Given the description of an element on the screen output the (x, y) to click on. 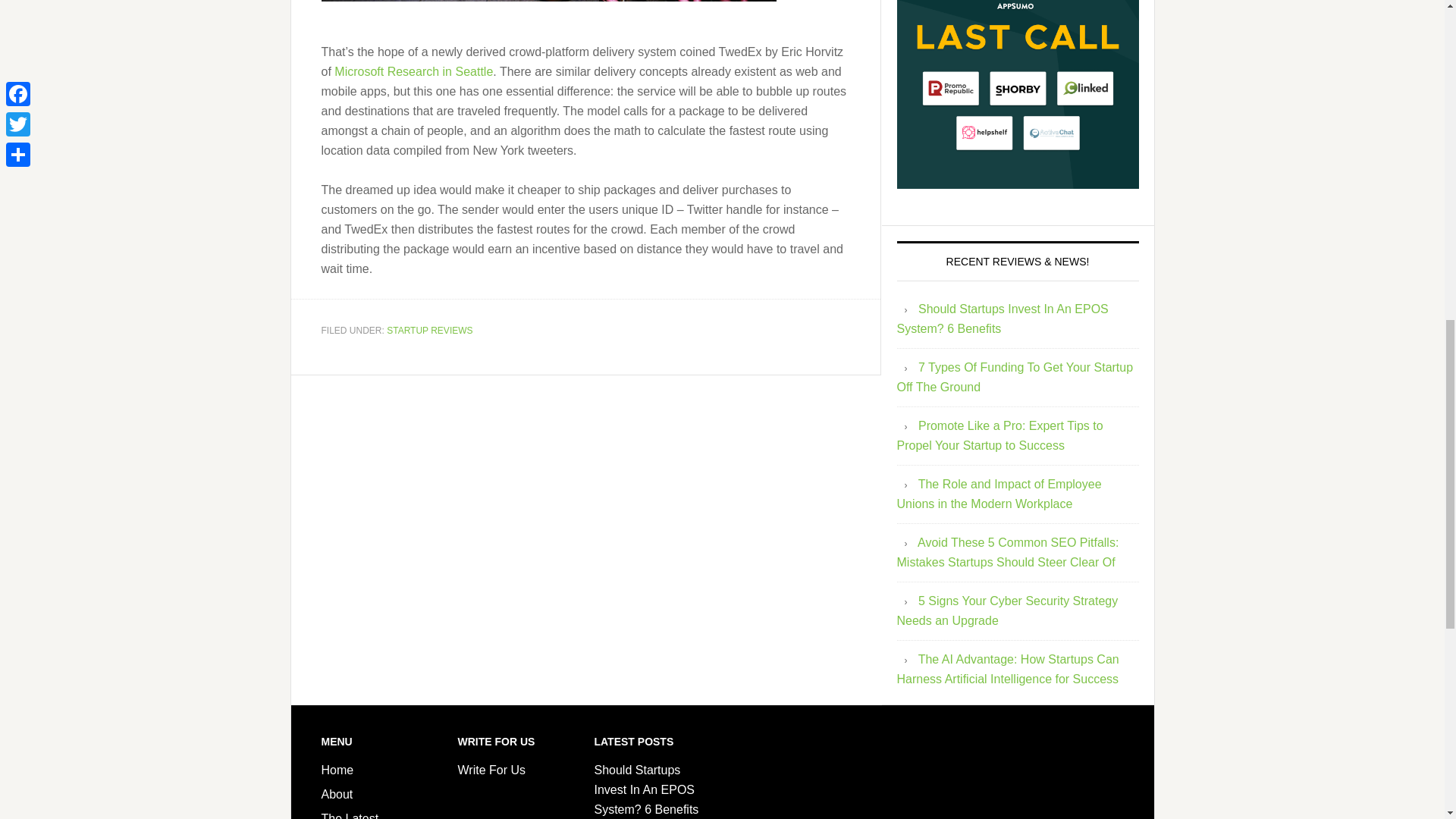
Home (337, 769)
Microsoft Research in Seattle (413, 71)
7 Types Of Funding To Get Your Startup Off The Ground (1014, 377)
Should Startups Invest In An EPOS System? 6 Benefits (1002, 318)
STARTUP REVIEWS (429, 329)
About (337, 793)
The Latest (349, 815)
